Given the description of an element on the screen output the (x, y) to click on. 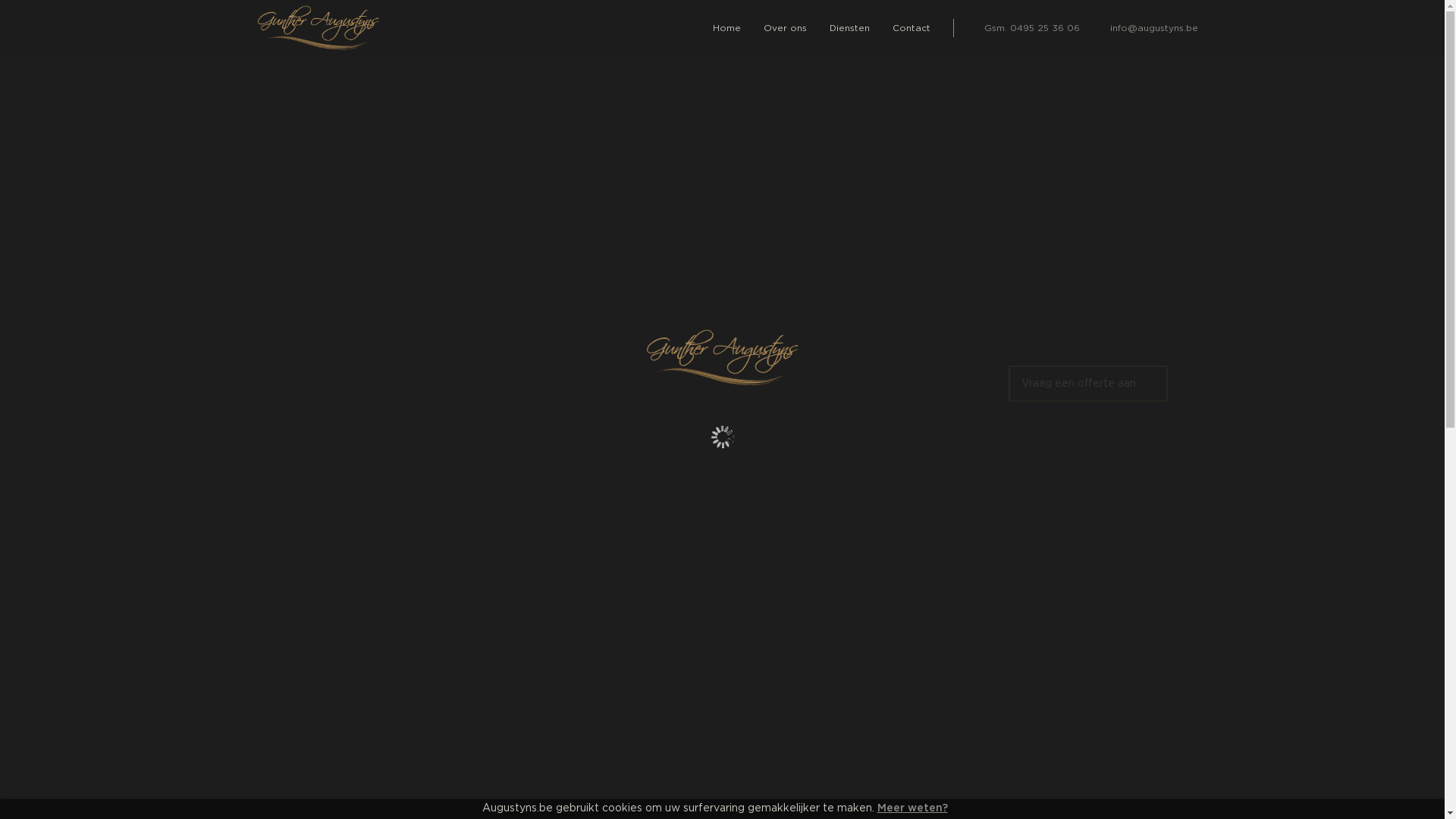
Contact Element type: text (911, 27)
Vraag een offerte aan Element type: text (1087, 383)
logo Augustyns Schilderwerken BVBA Element type: hover (318, 28)
Over ons Element type: text (784, 27)
Diensten Element type: text (849, 27)
Logo Element type: hover (721, 357)
Meer weten? Element type: text (911, 808)
Loader Element type: hover (721, 437)
Home Element type: text (726, 27)
